Given the description of an element on the screen output the (x, y) to click on. 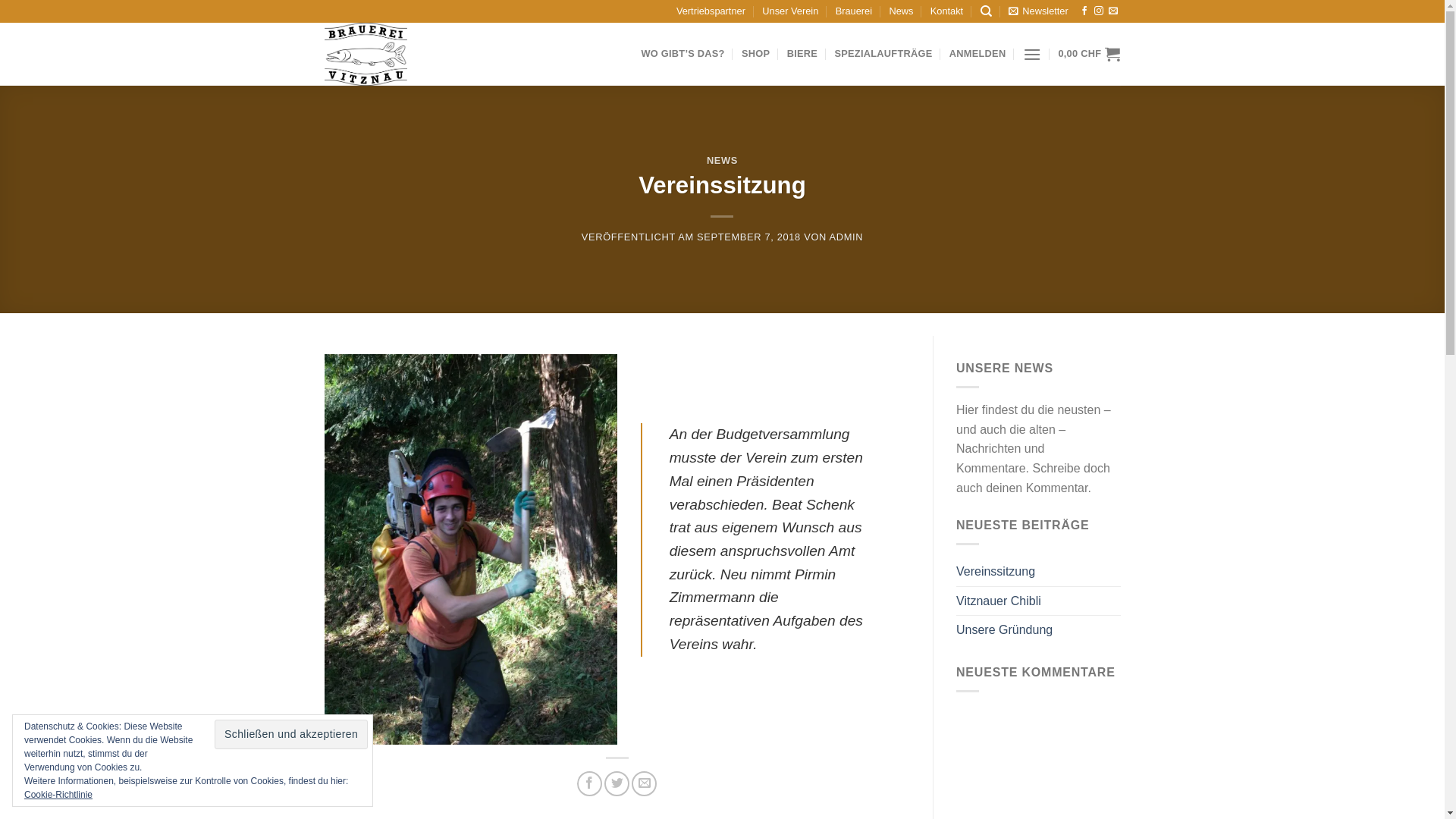
0,00 CHF Element type: text (1088, 53)
Auf Facebook teilen Element type: hover (589, 783)
SHOP Element type: text (755, 53)
Auf Facebook folgen Element type: hover (1083, 11)
Brauerei Element type: text (853, 11)
NEWS Element type: text (721, 160)
Vertriebspartner Element type: text (710, 11)
News Element type: text (900, 11)
Auf Instagram folgen Element type: hover (1098, 11)
Kontakt Element type: text (946, 11)
ANMELDEN Element type: text (977, 53)
Auf Twitter teilen Element type: hover (616, 783)
BIERE Element type: text (802, 53)
ADMIN Element type: text (846, 236)
Vitznauer Chibli Element type: text (998, 600)
Vereinssitzung Element type: text (995, 571)
Cookie-Richtlinie Element type: text (58, 794)
Newsletter Element type: text (1037, 11)
E-mail an einen Freund senden Element type: hover (643, 783)
Sende uns eine E-Mail Element type: hover (1112, 11)
Unser Verein Element type: text (790, 11)
SEPTEMBER 7, 2018 Element type: text (748, 236)
